Given the description of an element on the screen output the (x, y) to click on. 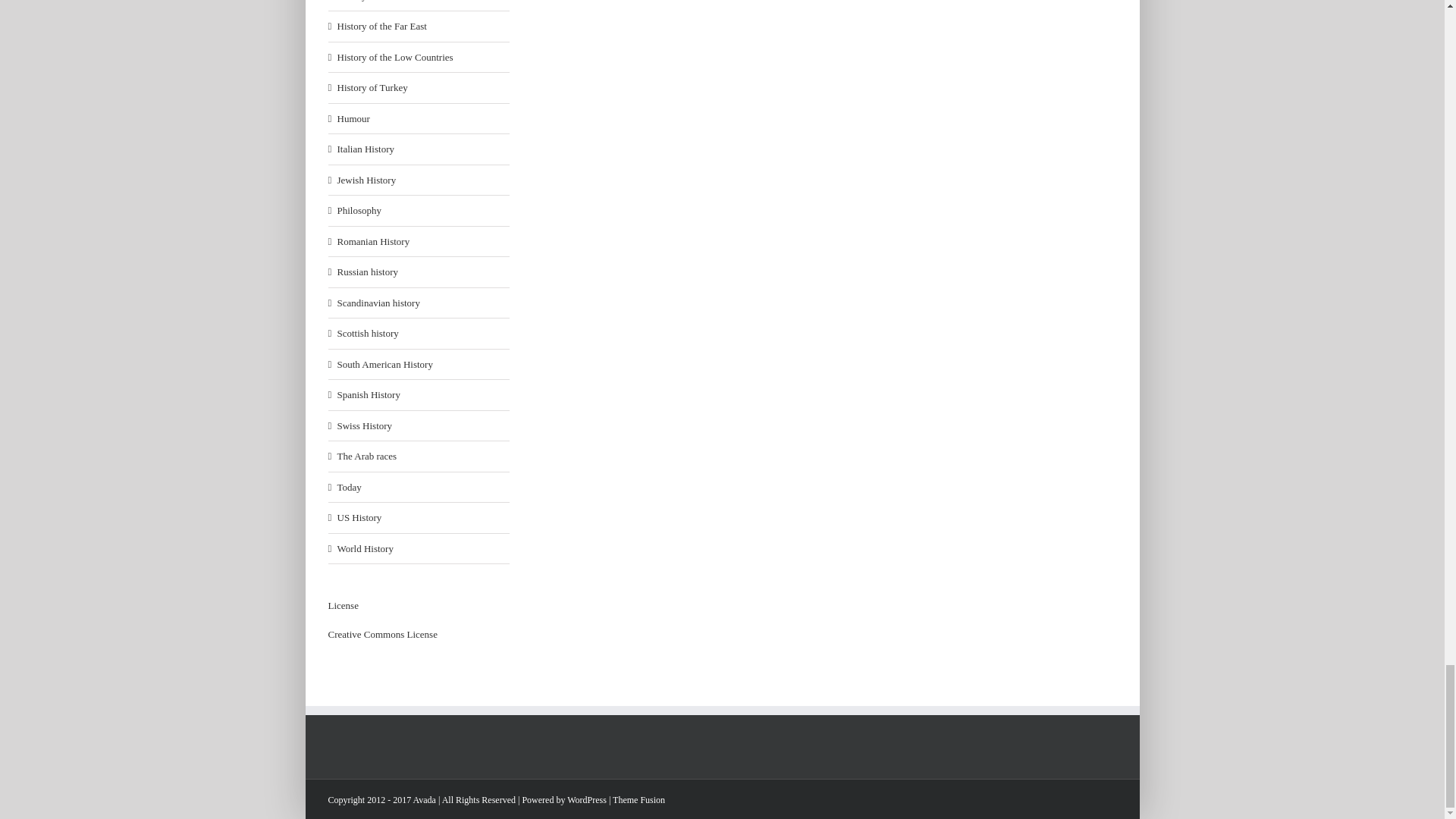
License (381, 633)
